Given the description of an element on the screen output the (x, y) to click on. 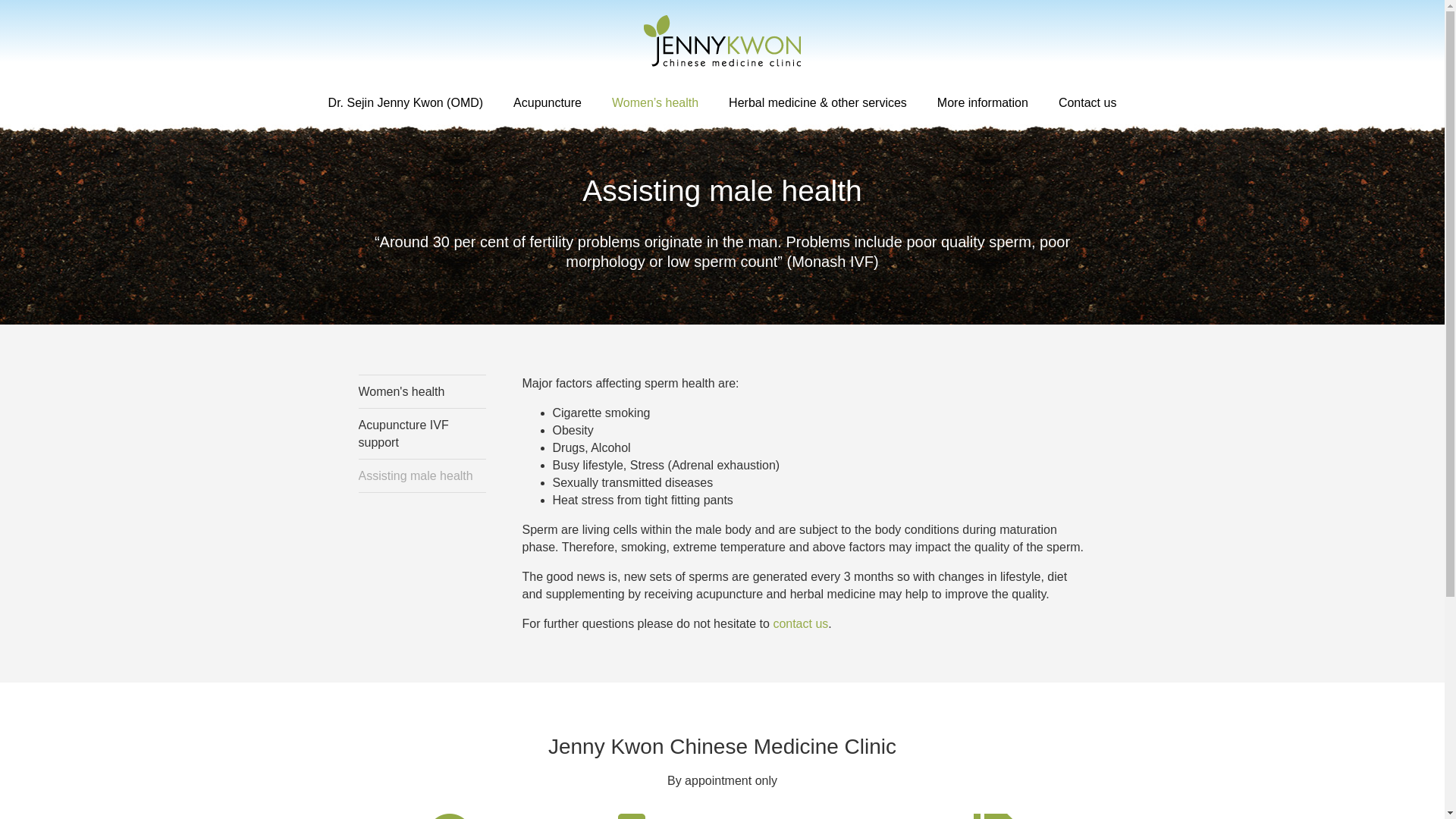
Acupuncture (546, 102)
Jenny Kwon Chinese Medicine Clinic (721, 40)
Women's health (421, 391)
More information (982, 102)
Contact us (1087, 102)
Acupuncture IVF support (421, 433)
Jenny Kwon Chinese Medicine Clinic (721, 40)
contact us (800, 623)
